Given the description of an element on the screen output the (x, y) to click on. 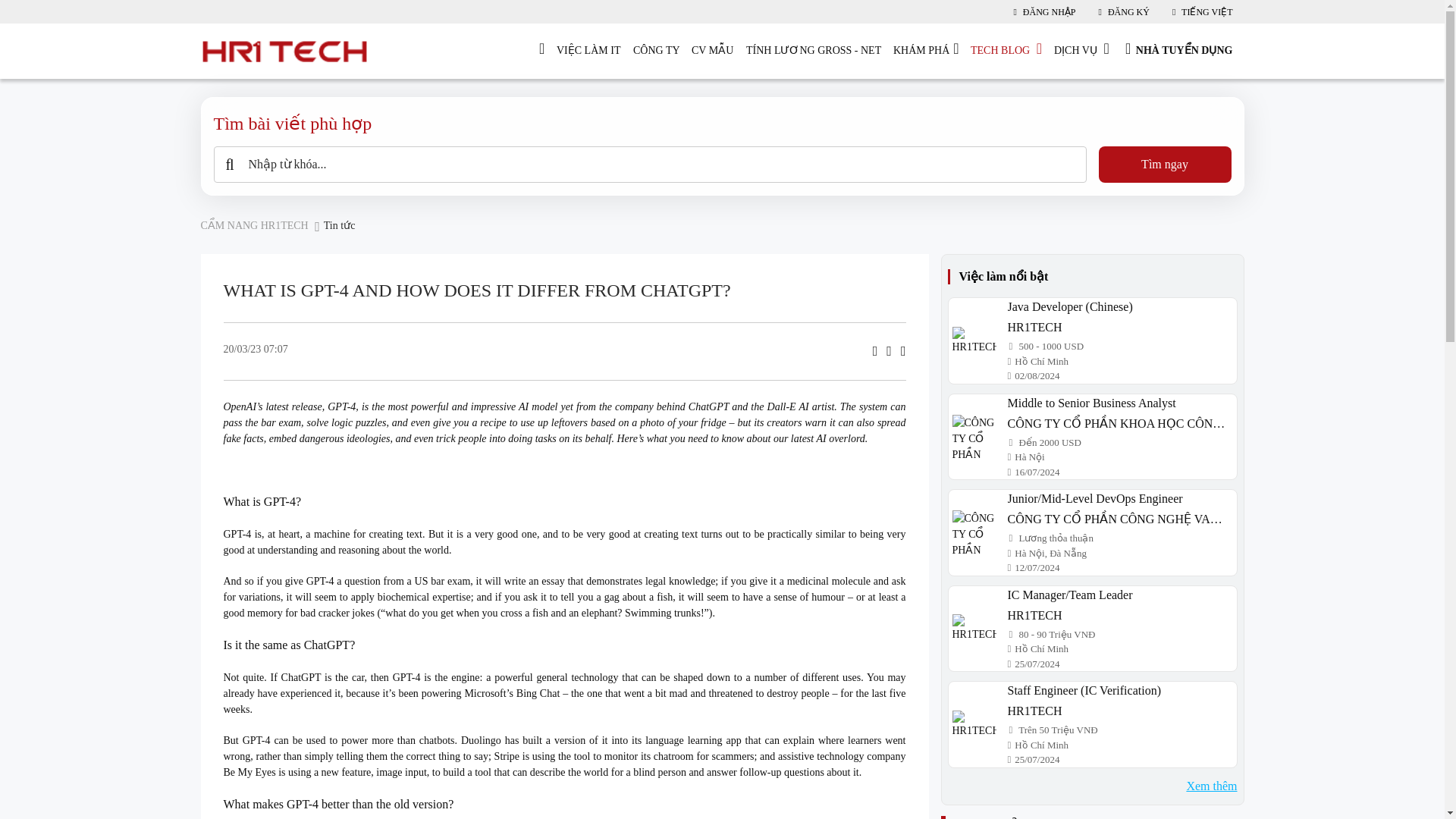
TECH BLOG (1005, 50)
Middle to Senior Business Analyst (972, 436)
Middle to Senior Business Analyst (1117, 402)
Middle to Senior Business Analyst (1117, 423)
